Given the description of an element on the screen output the (x, y) to click on. 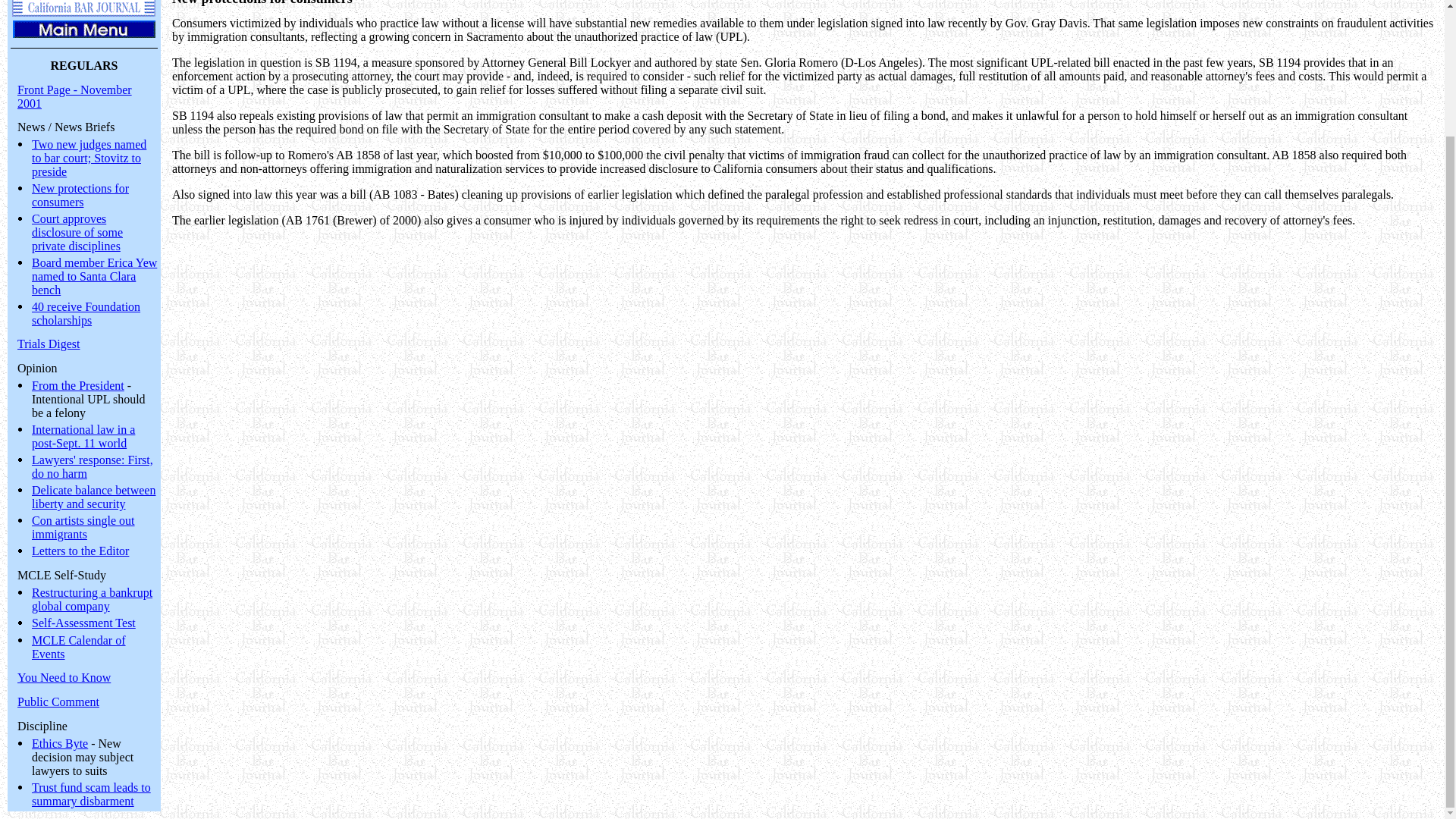
Board member Erica Yew named to Santa Clara bench (94, 276)
Trials Digest (48, 343)
Trust fund scam leads to summary disbarment (91, 794)
Con artists single out immigrants (83, 527)
Two new judges named to bar court; Stovitz to preside (89, 158)
International law in a post-Sept. 11 world (83, 436)
You Need to Know (63, 676)
Front Page - November 2001 (74, 96)
Letters to the Editor (80, 550)
Ethics Byte (59, 743)
